Given the description of an element on the screen output the (x, y) to click on. 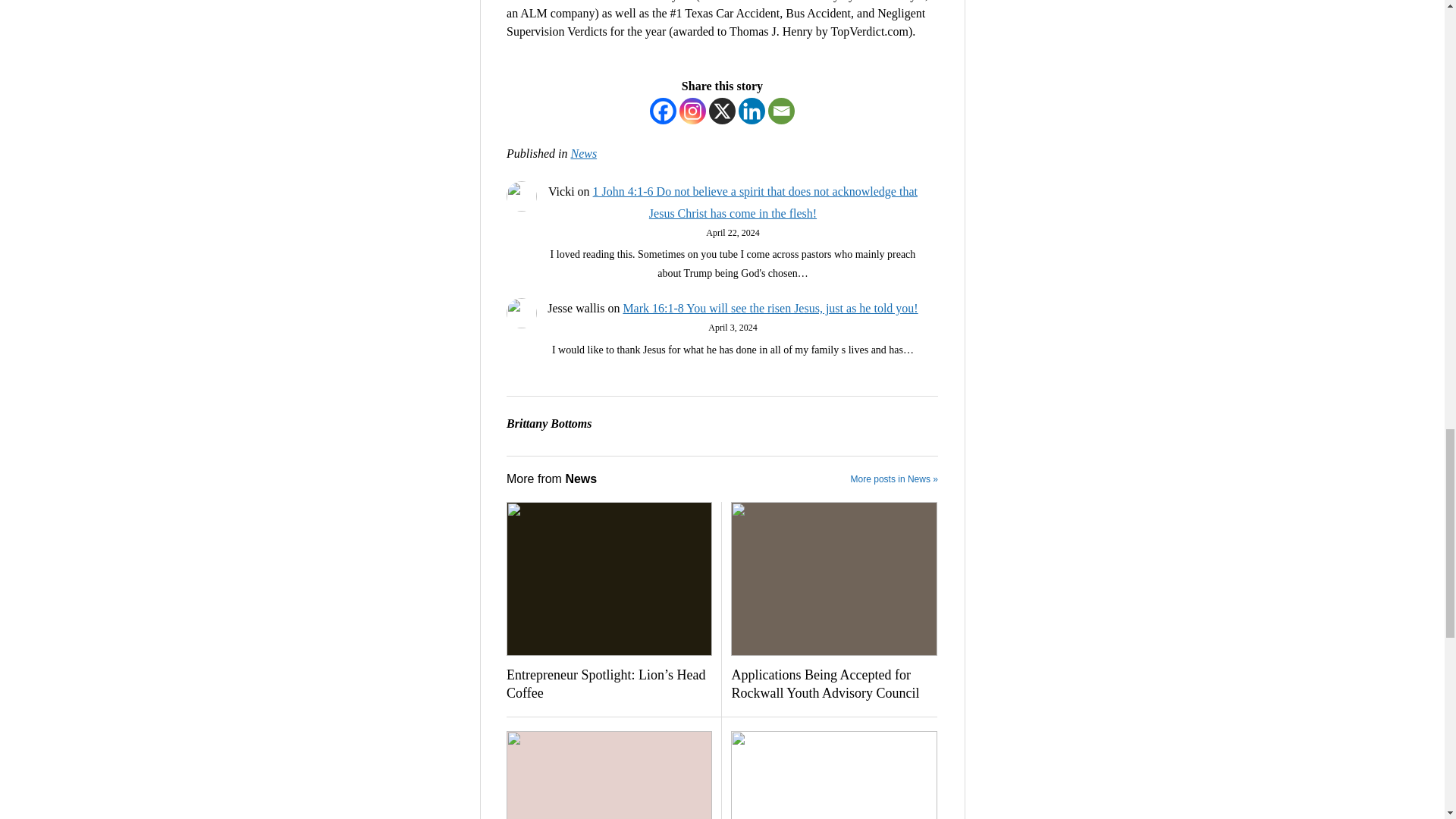
Facebook (663, 110)
X (722, 110)
Email (781, 110)
Instagram (692, 110)
Linkedin (751, 110)
